Given the description of an element on the screen output the (x, y) to click on. 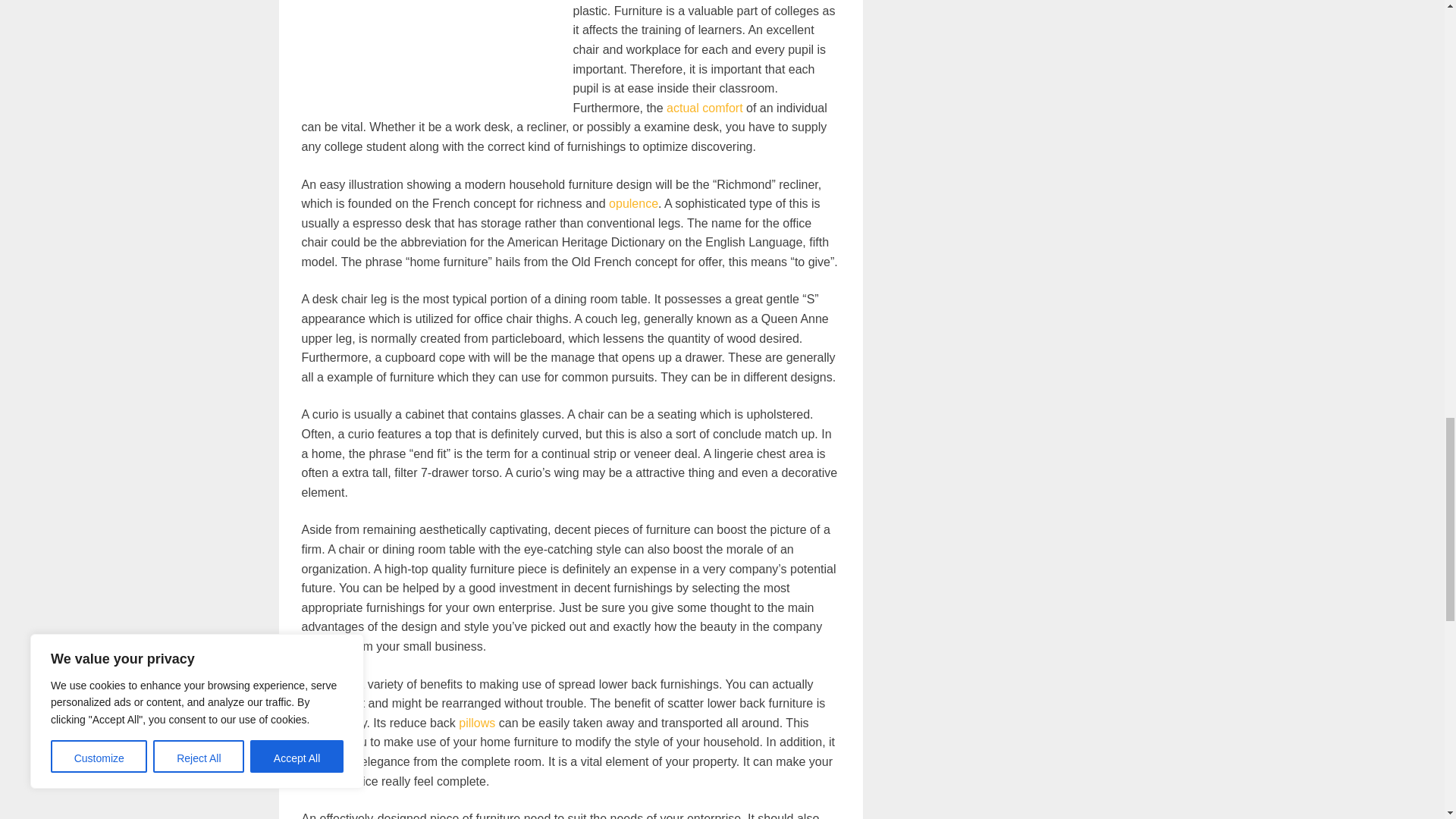
pillows (476, 722)
opulence (633, 203)
actual comfort (704, 107)
